Given the description of an element on the screen output the (x, y) to click on. 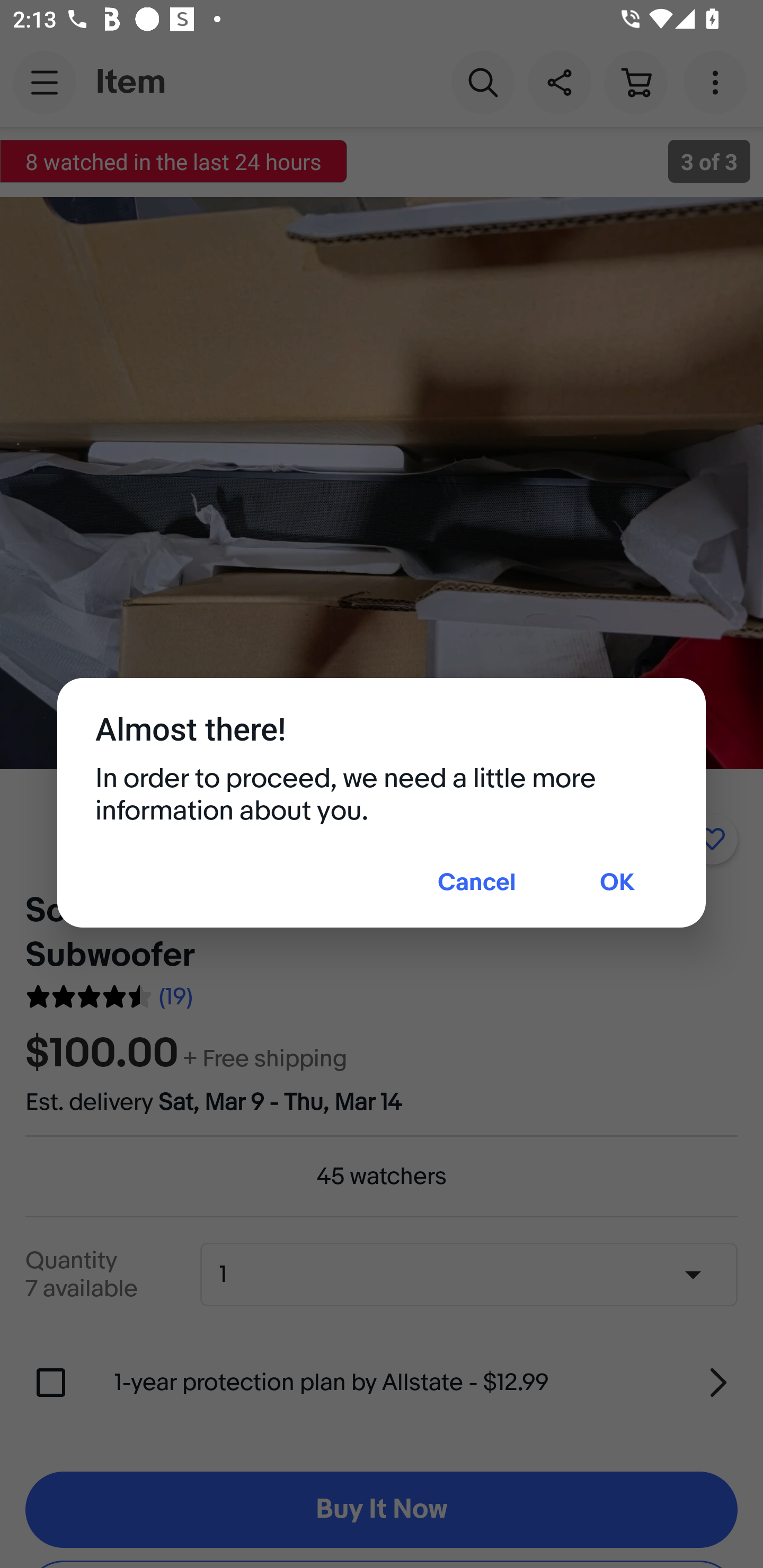
Cancel (476, 883)
OK (616, 883)
